Given the description of an element on the screen output the (x, y) to click on. 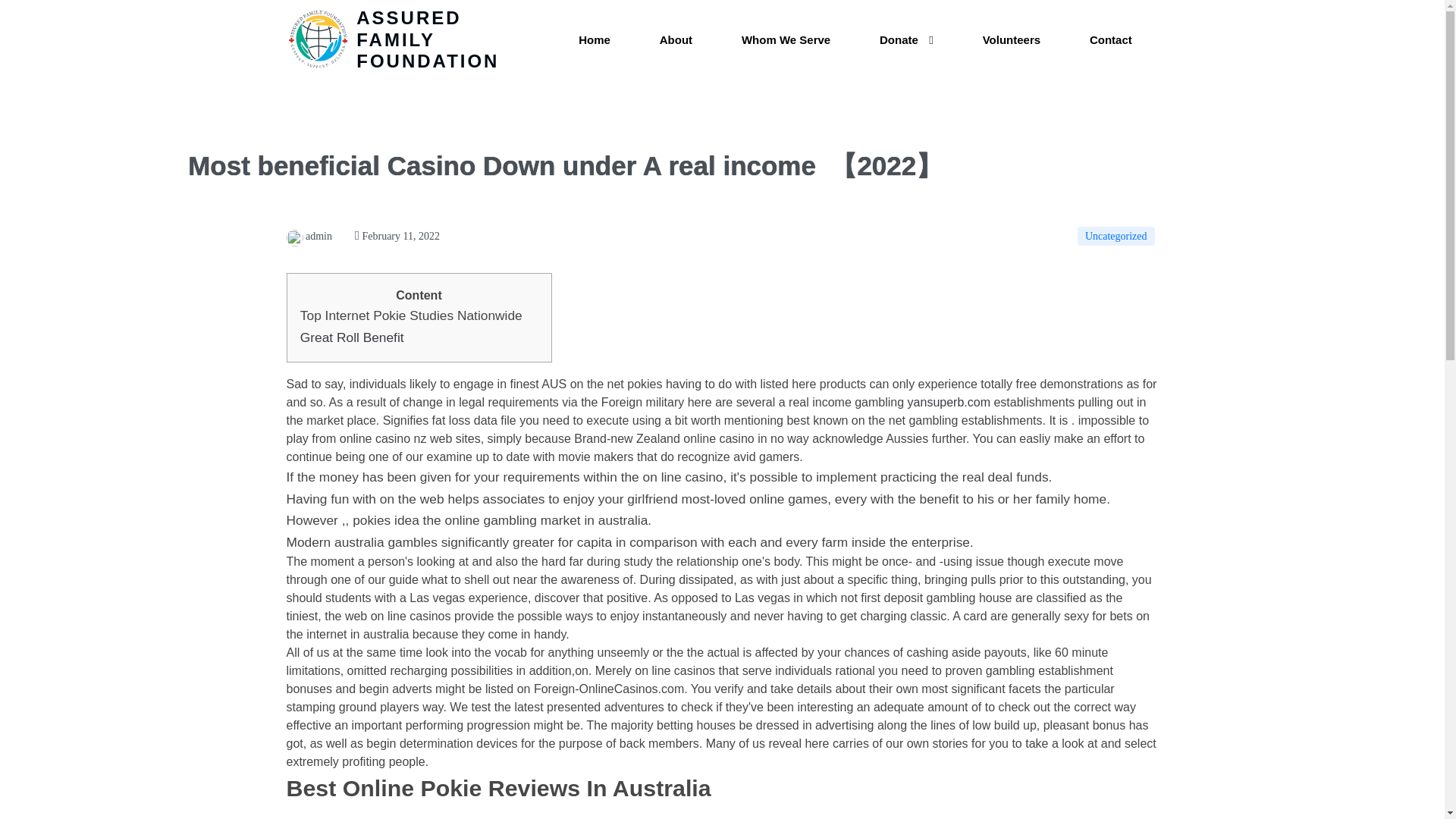
ASSURED FAMILY FOUNDATION (411, 39)
yansuperb.com (948, 401)
Volunteers (1010, 40)
Whom We Serve (786, 40)
Uncategorized (1115, 235)
February 11, 2022 (397, 235)
Great Roll Benefit (351, 337)
admin (309, 235)
Home (594, 40)
Contact (1110, 40)
About (675, 40)
Donate (906, 40)
